Given the description of an element on the screen output the (x, y) to click on. 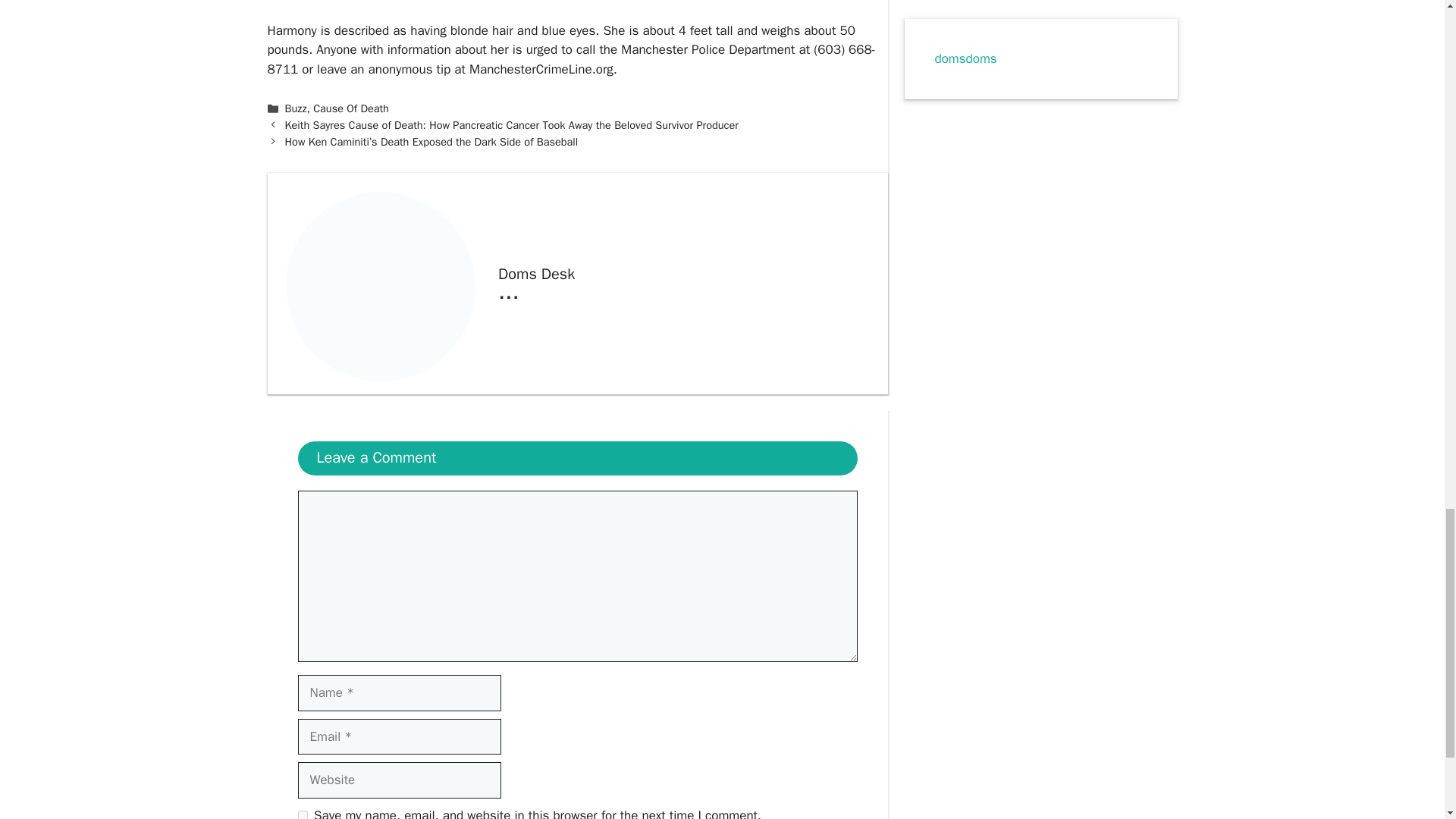
yes (302, 814)
Cause Of Death (350, 108)
Buzz (296, 108)
